Given the description of an element on the screen output the (x, y) to click on. 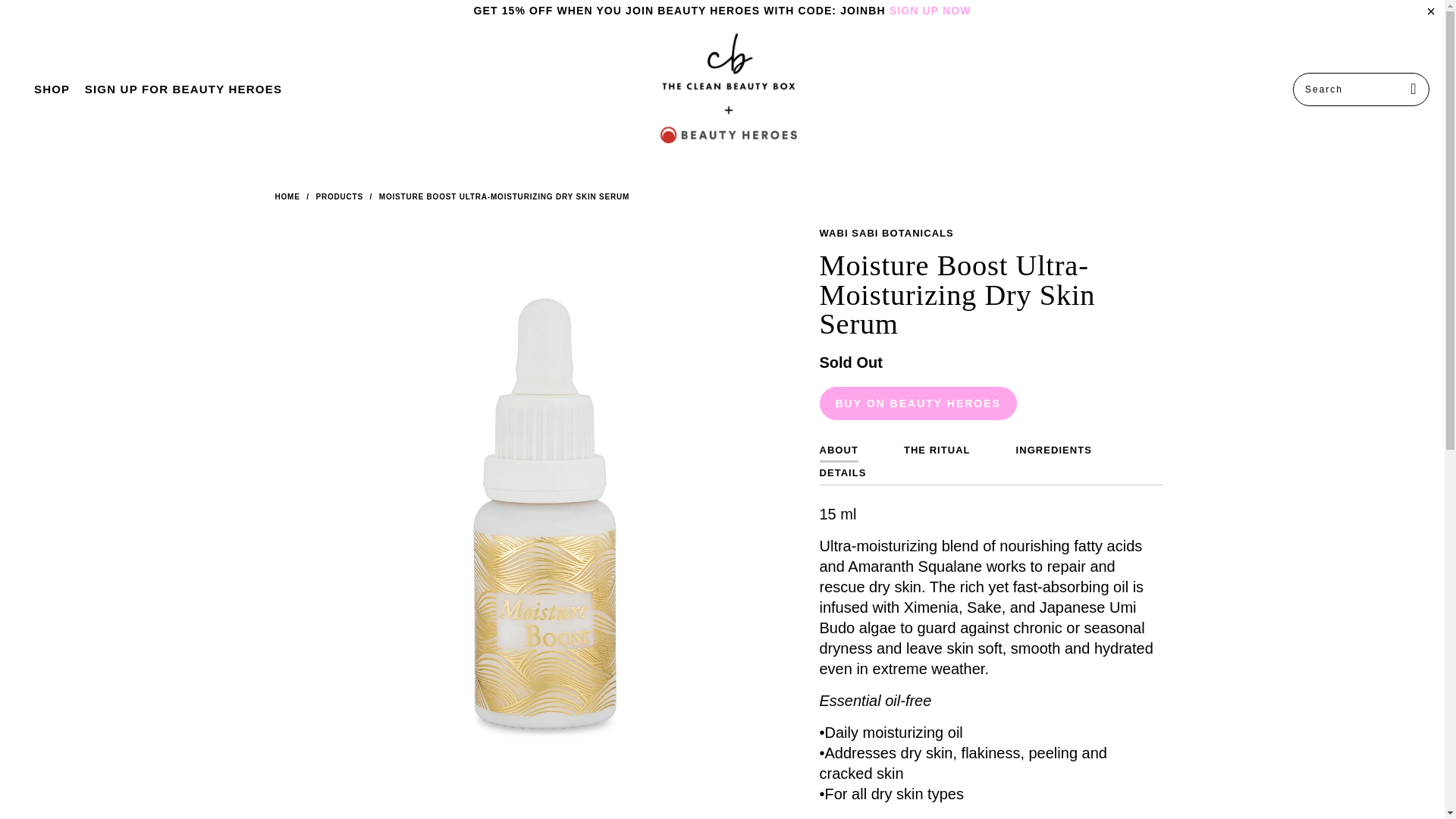
DETAILS (842, 472)
MOISTURE BOOST ULTRA-MOISTURIZING DRY SKIN SERUM (503, 196)
SIGN UP FOR BEAUTY HEROES (183, 89)
Wabi Sabi Botanicals (885, 233)
Products (338, 196)
INGREDIENTS (1054, 449)
SIGN UP NOW (930, 10)
The Clean Beauty Box (287, 196)
The Clean Beauty Box (728, 89)
THE RITUAL (937, 449)
ABOUT (837, 450)
BUY ON BEAUTY HEROES (917, 403)
SHOP (51, 89)
WABI SABI BOTANICALS (885, 233)
PRODUCTS (338, 196)
